Given the description of an element on the screen output the (x, y) to click on. 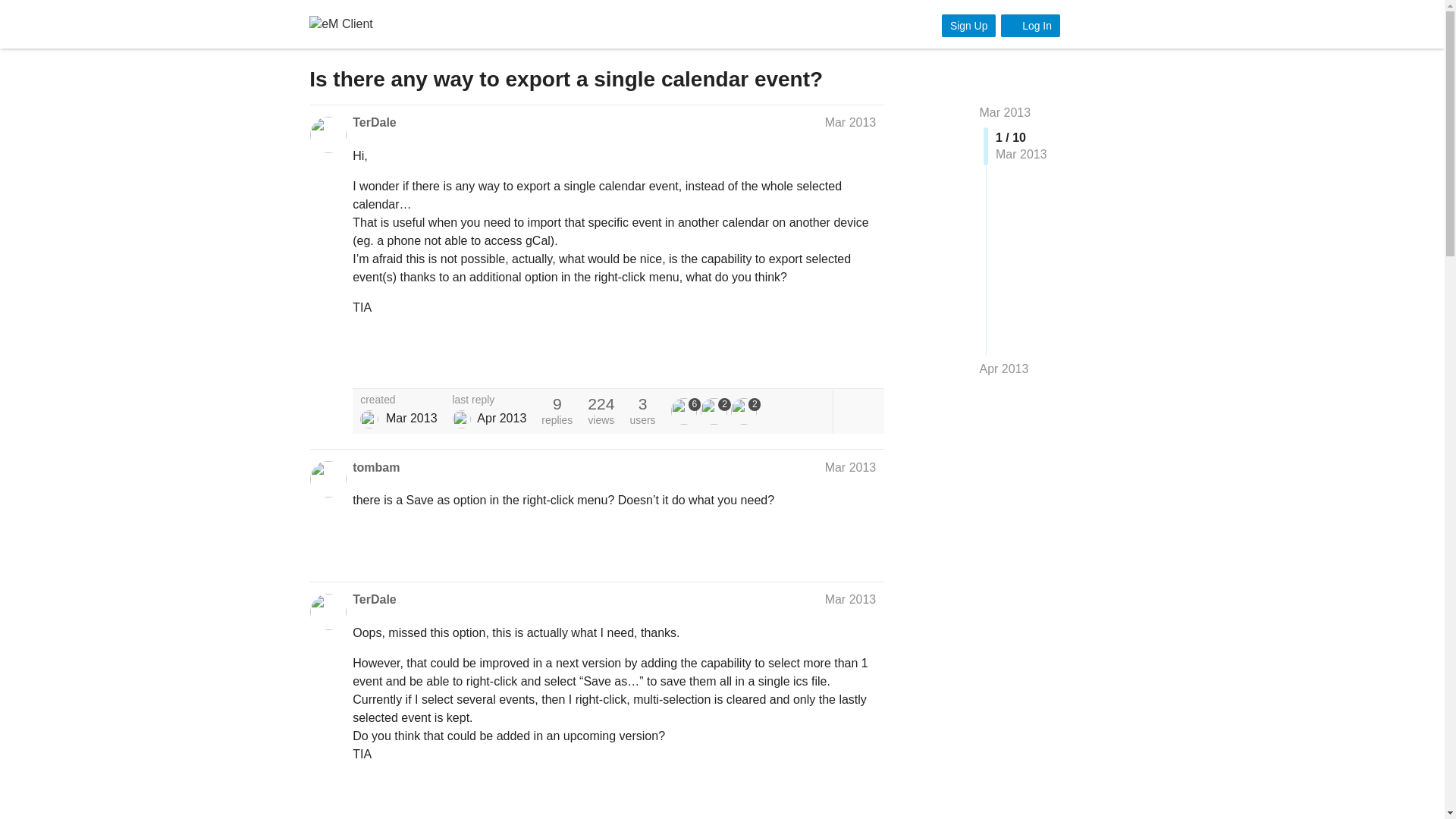
menu (1117, 23)
Mar 15, 2013 4:46 pm (411, 418)
Sign Up (968, 25)
Apr 3, 2013 11:58 pm (501, 418)
6 (686, 411)
Mar 2013 (1004, 112)
TerDale (368, 419)
Is there any way to export a single calendar event? (565, 78)
TerDale (374, 599)
last reply (489, 399)
